Given the description of an element on the screen output the (x, y) to click on. 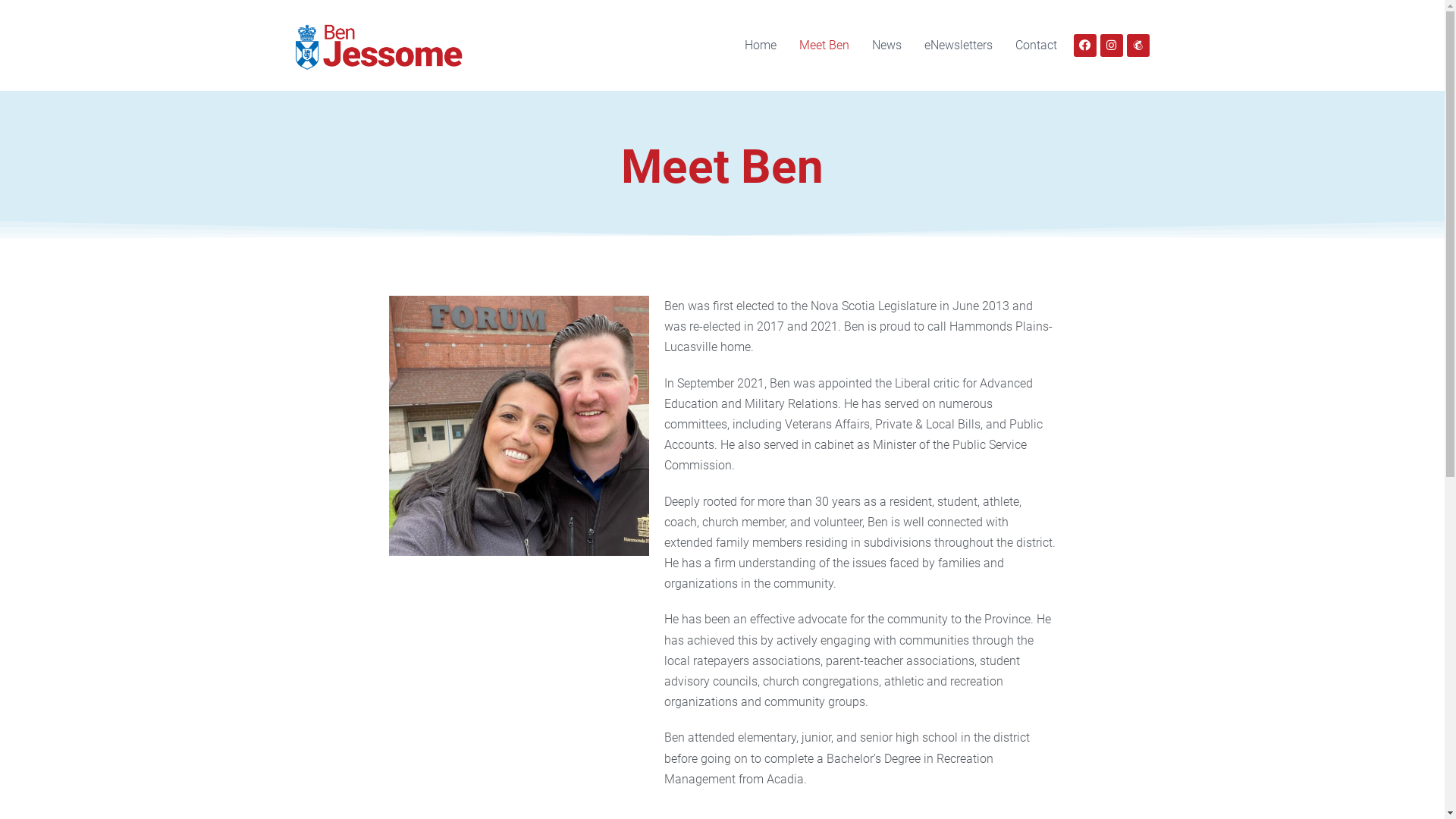
Meet Ben Element type: text (823, 45)
News Element type: text (885, 45)
Home Element type: text (759, 45)
eNewsletters Element type: text (958, 45)
Contact Element type: text (1036, 45)
